Given the description of an element on the screen output the (x, y) to click on. 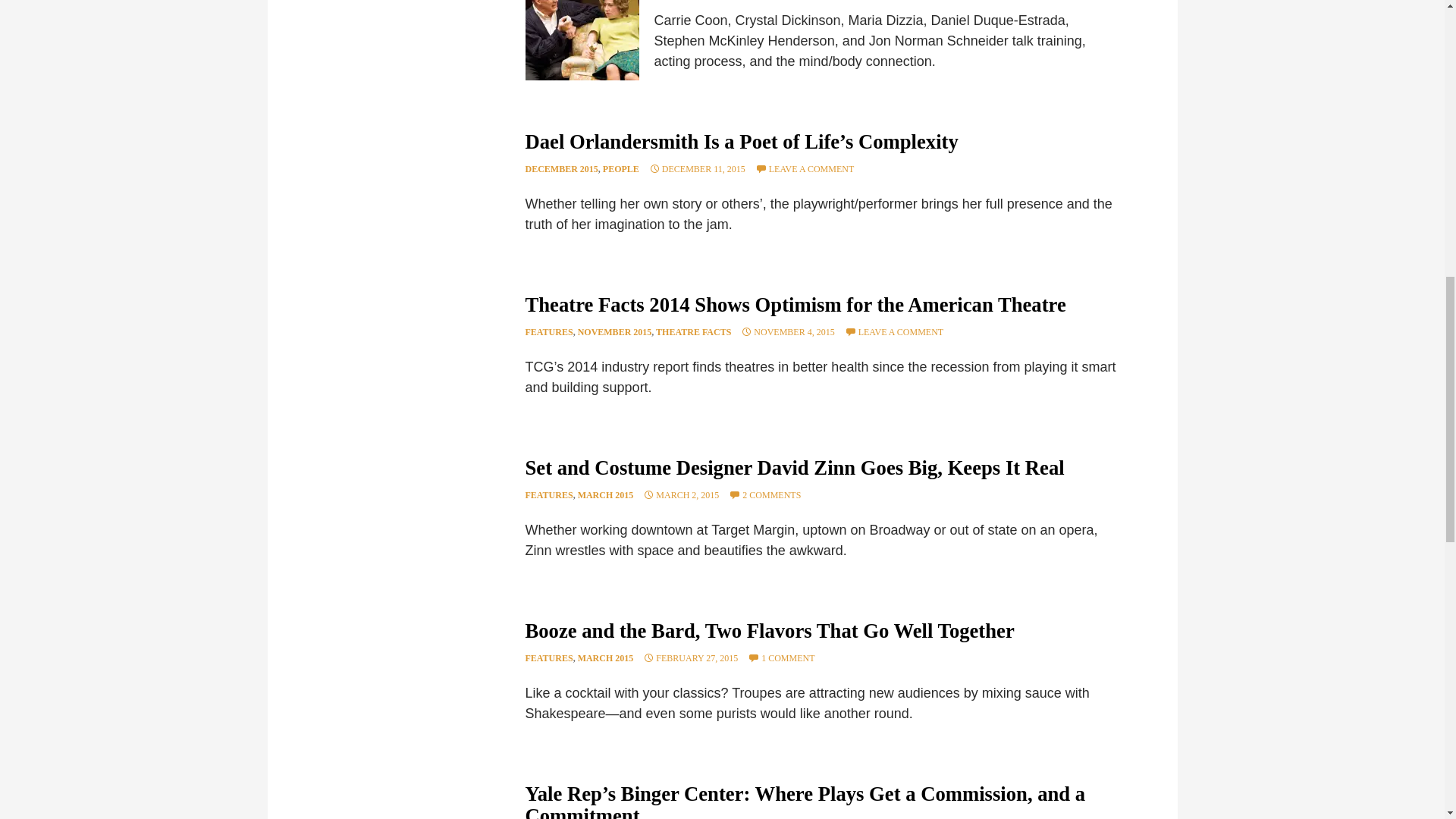
View all posts in Features (548, 331)
View all posts in People (620, 168)
View all posts in December 2015 (560, 168)
An Actor Prepares: 6 Performers Detail Their Processes (581, 40)
View all posts in November 2015 (615, 331)
